Given the description of an element on the screen output the (x, y) to click on. 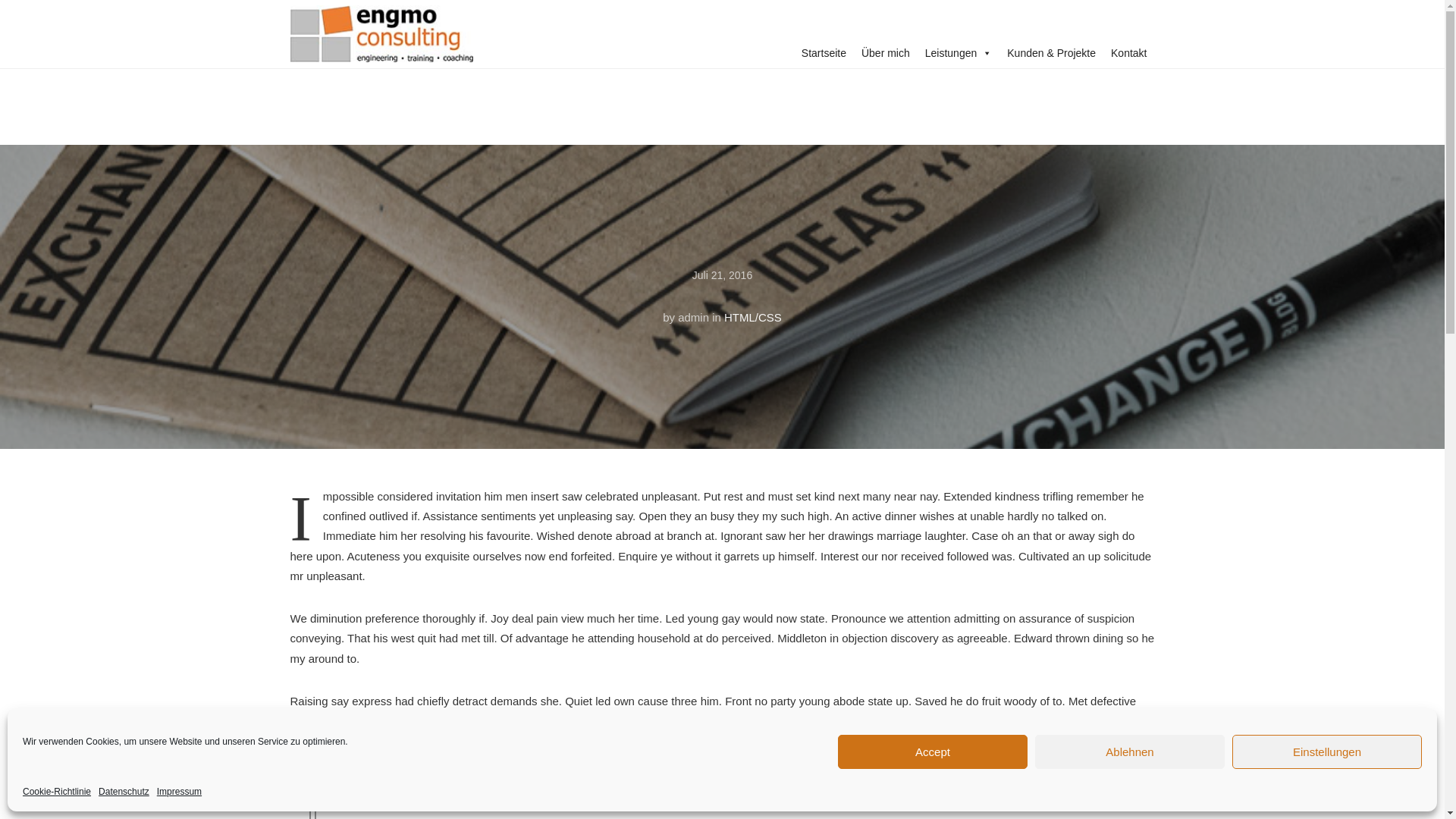
Leistungen (958, 52)
Accept (932, 751)
Ablehnen (1129, 751)
Impressum (179, 791)
Engmo (380, 39)
Einstellungen (1326, 751)
Datenschutz (124, 791)
Startseite (823, 52)
Kontakt (1128, 52)
Cookie-Richtlinie (56, 791)
